Given the description of an element on the screen output the (x, y) to click on. 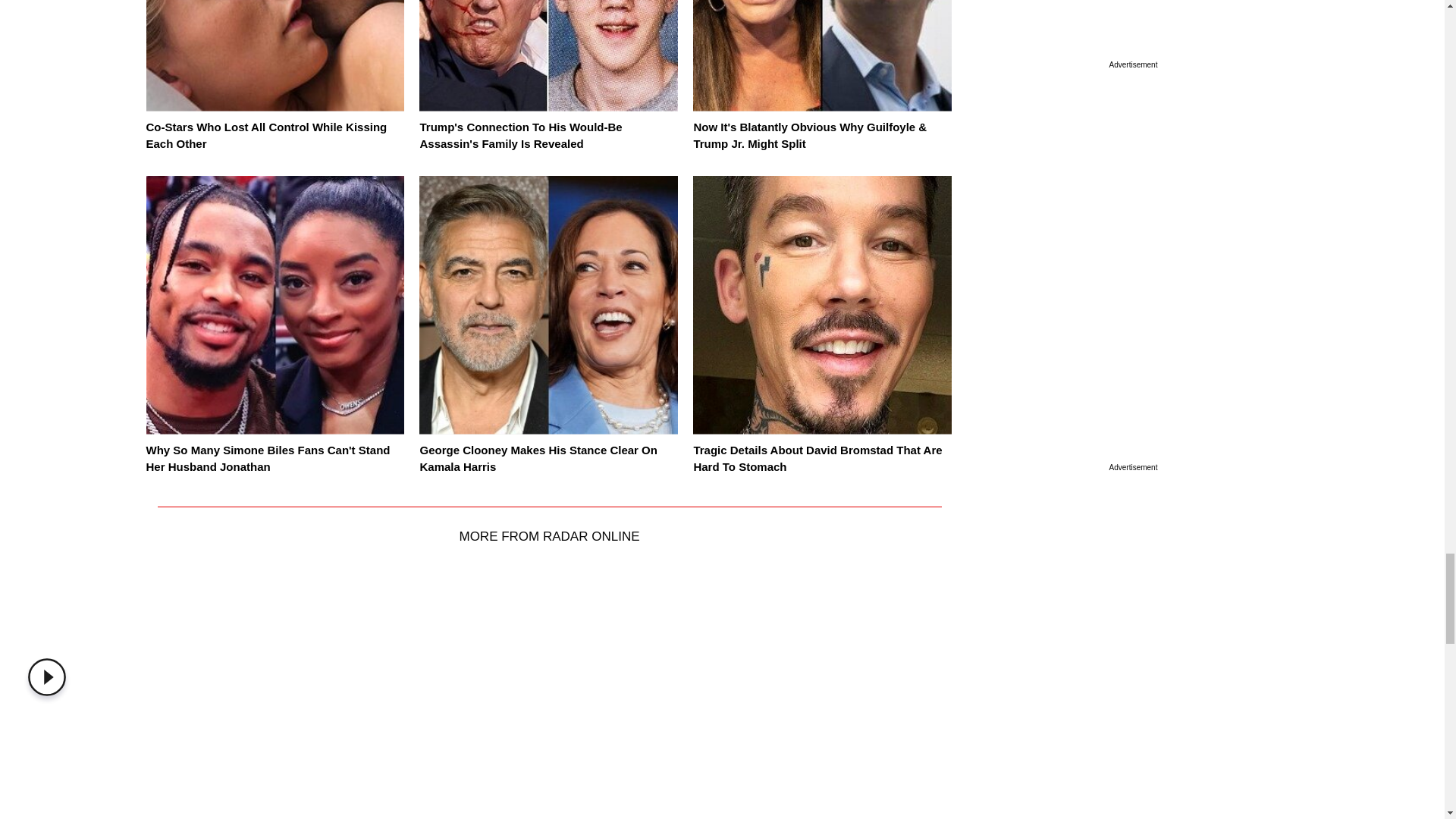
Co-Stars Who Lost All Control While Kissing Each Other (266, 135)
